Given the description of an element on the screen output the (x, y) to click on. 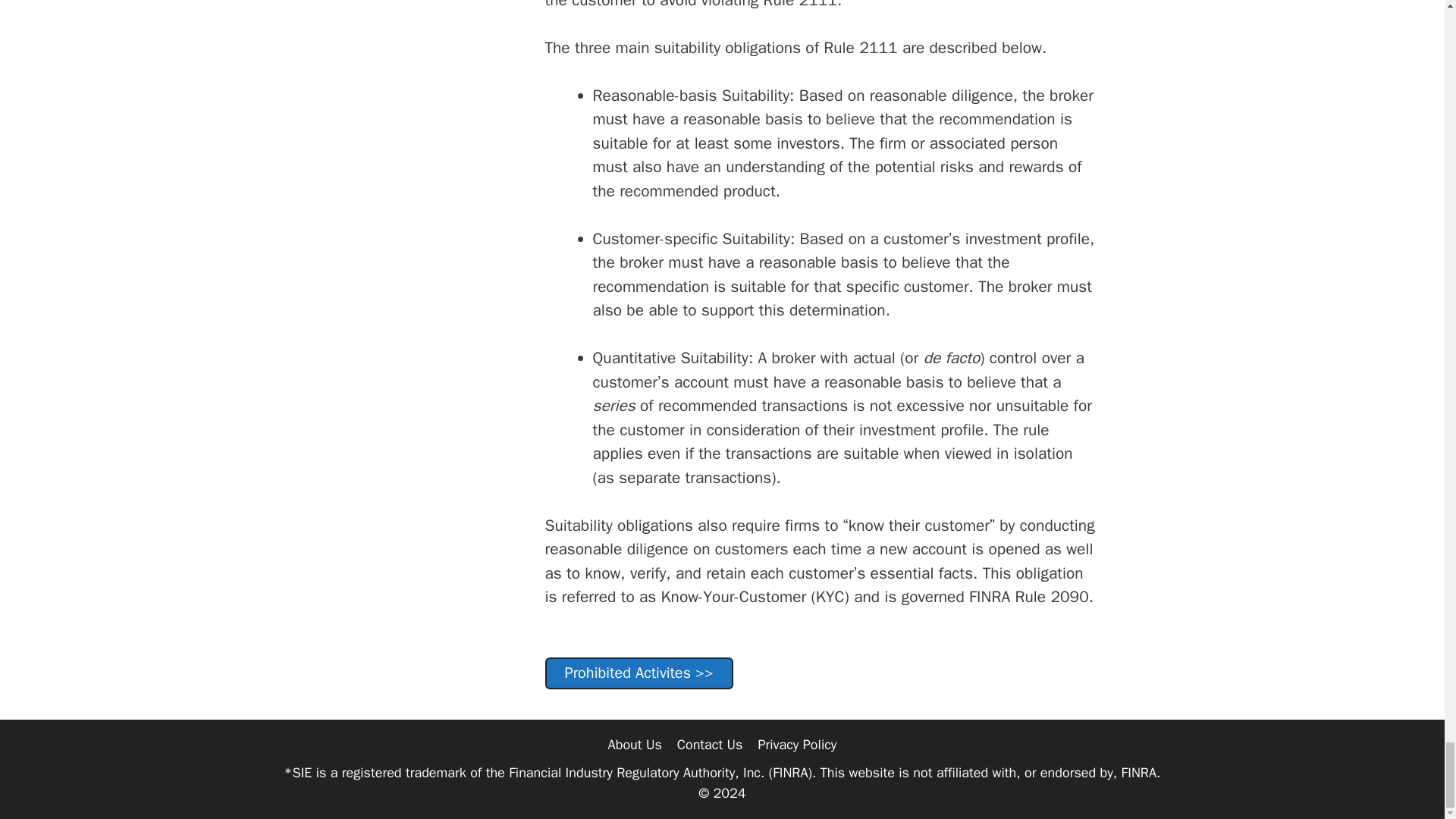
About Us (635, 744)
Contact Us (709, 744)
Privacy Policy (796, 744)
